Given the description of an element on the screen output the (x, y) to click on. 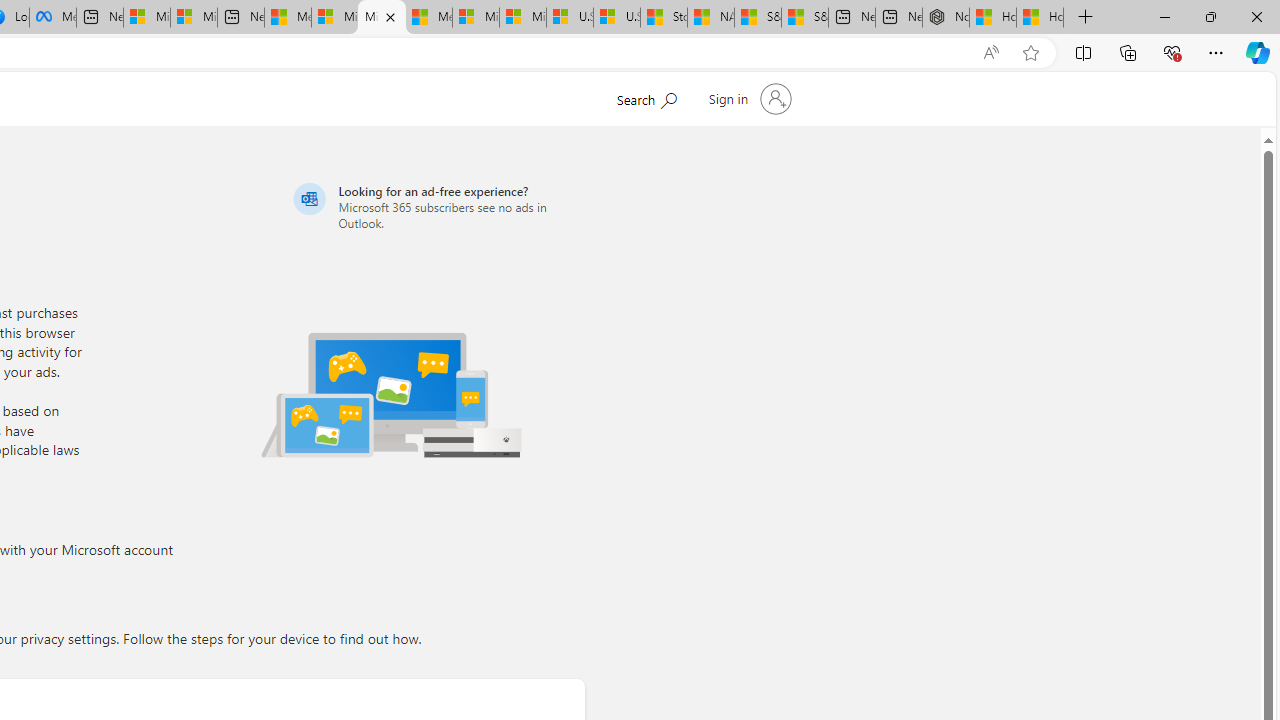
Looking for an ad-free experience? (436, 206)
How to Use a Monitor With Your Closed Laptop (1040, 17)
Microsoft account | Privacy (381, 17)
Illustration of multiple devices (391, 394)
Sign in to your account (748, 98)
